Given the description of an element on the screen output the (x, y) to click on. 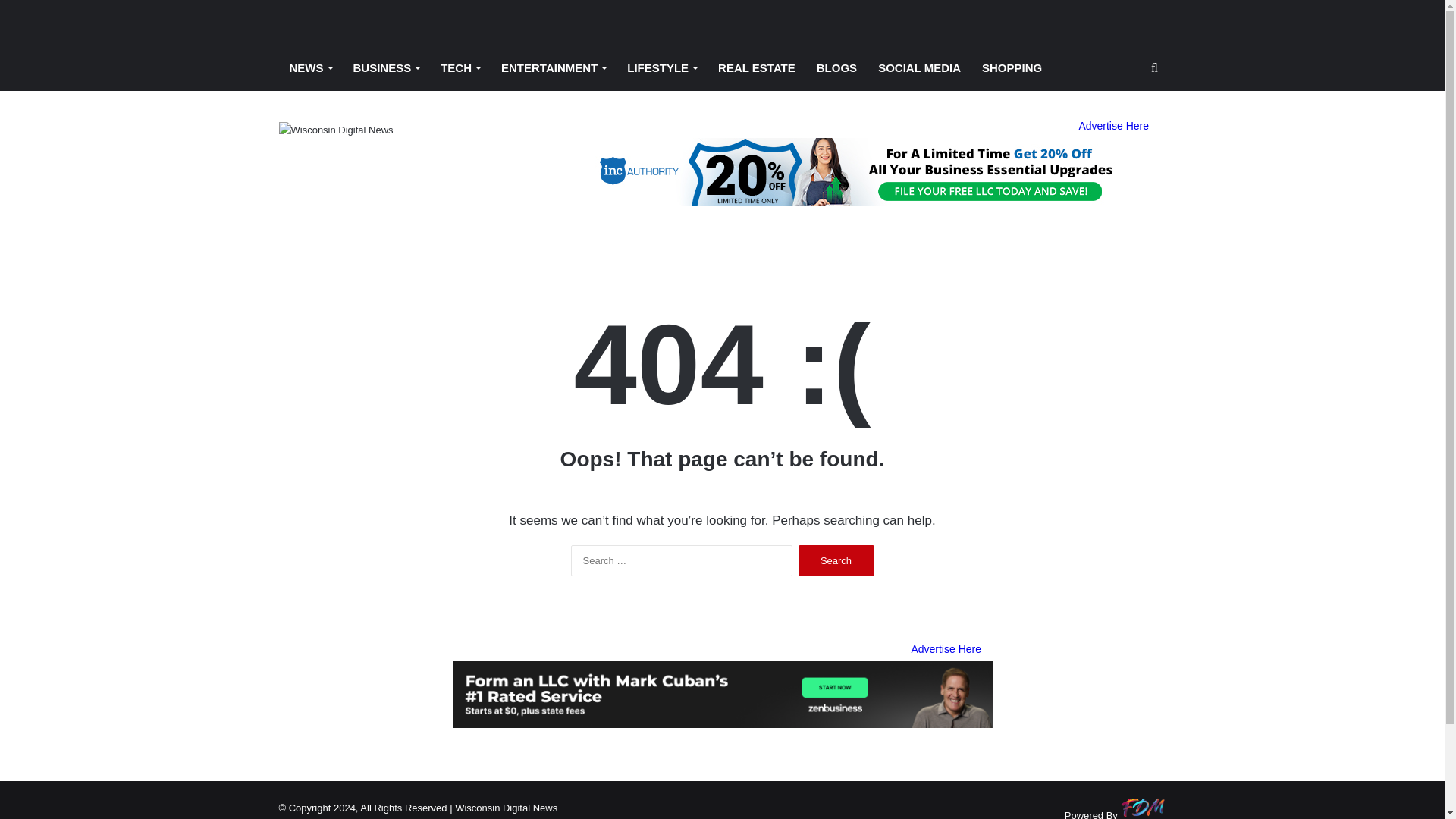
REAL ESTATE (756, 67)
BLOGS (836, 67)
SHOPPING (1011, 67)
Wisconsin Digital News (336, 23)
LIFESTYLE (661, 67)
NEWS (310, 67)
ENTERTAINMENT (552, 67)
Wisconsin Digital News (336, 129)
BUSINESS (386, 67)
Search (835, 560)
